Given the description of an element on the screen output the (x, y) to click on. 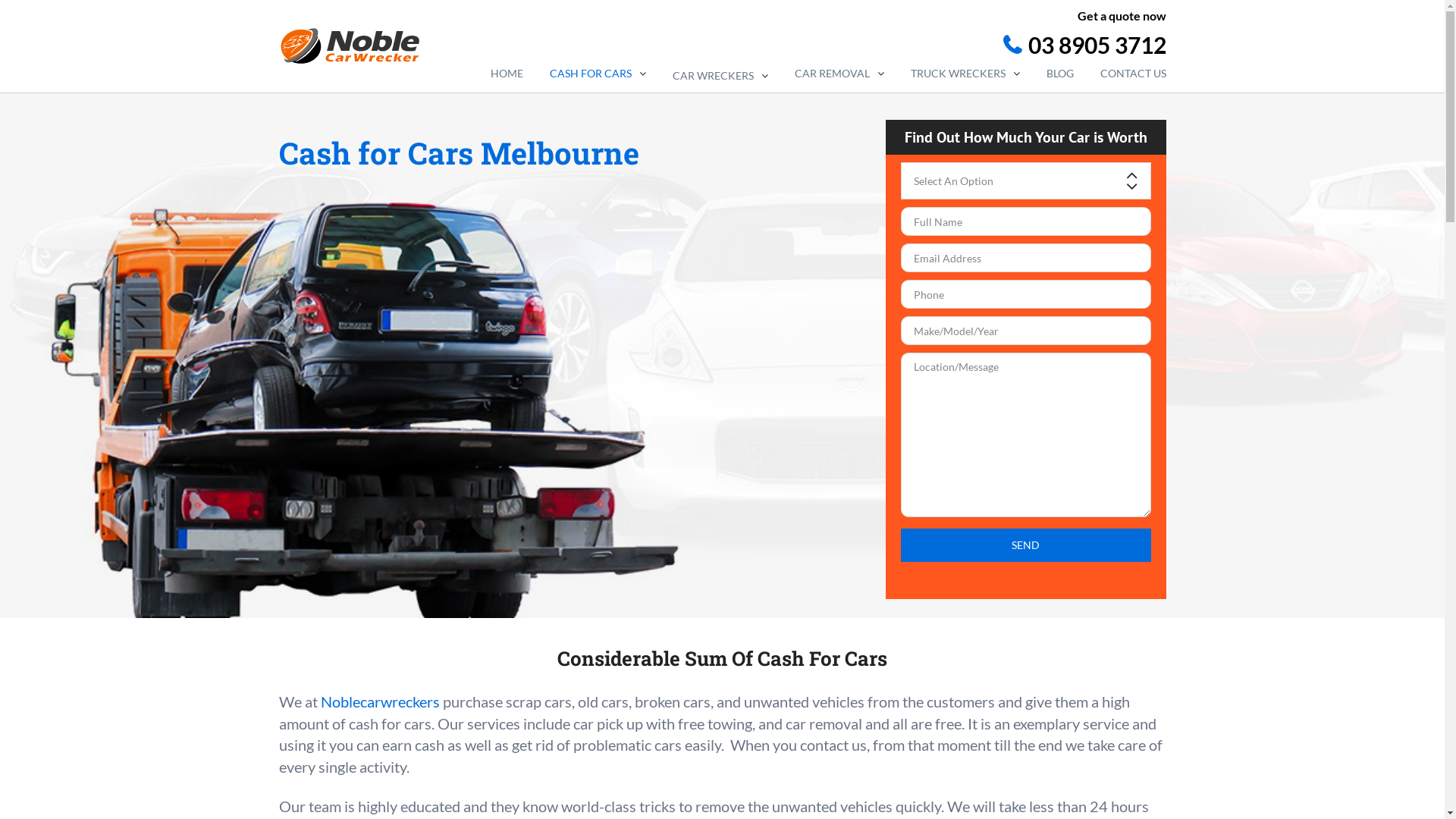
CAR REMOVAL Element type: text (839, 73)
CONTACT US Element type: text (1132, 73)
TRUCK WRECKERS Element type: text (964, 73)
BLOG Element type: text (1059, 73)
HOME Element type: text (505, 73)
Noblecarwreckers Element type: text (379, 701)
03 8905 3712 Element type: text (815, 45)
Send Element type: text (1025, 544)
CASH FOR CARS Element type: text (597, 73)
CAR WRECKERS Element type: text (719, 74)
